Given the description of an element on the screen output the (x, y) to click on. 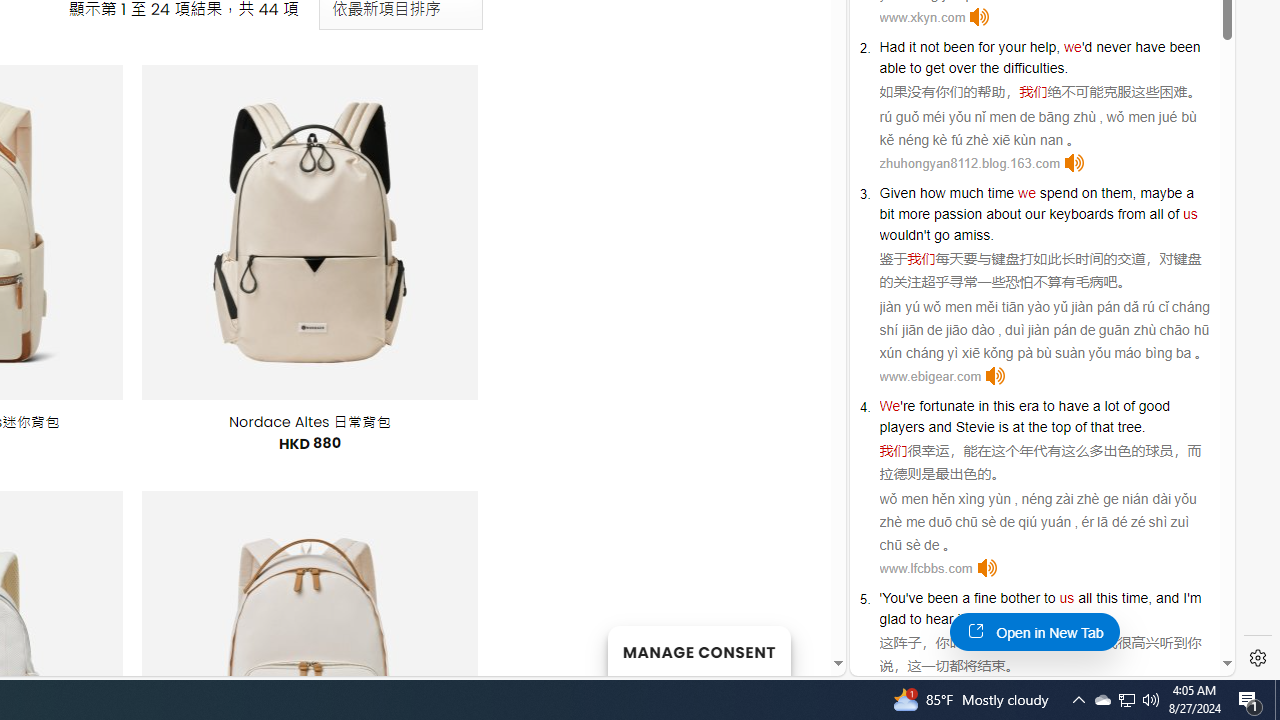
going (994, 619)
stop (1044, 619)
Click to listen (986, 568)
on (1089, 192)
us (1066, 597)
this (1106, 597)
bother (1019, 597)
have (1073, 405)
